Given the description of an element on the screen output the (x, y) to click on. 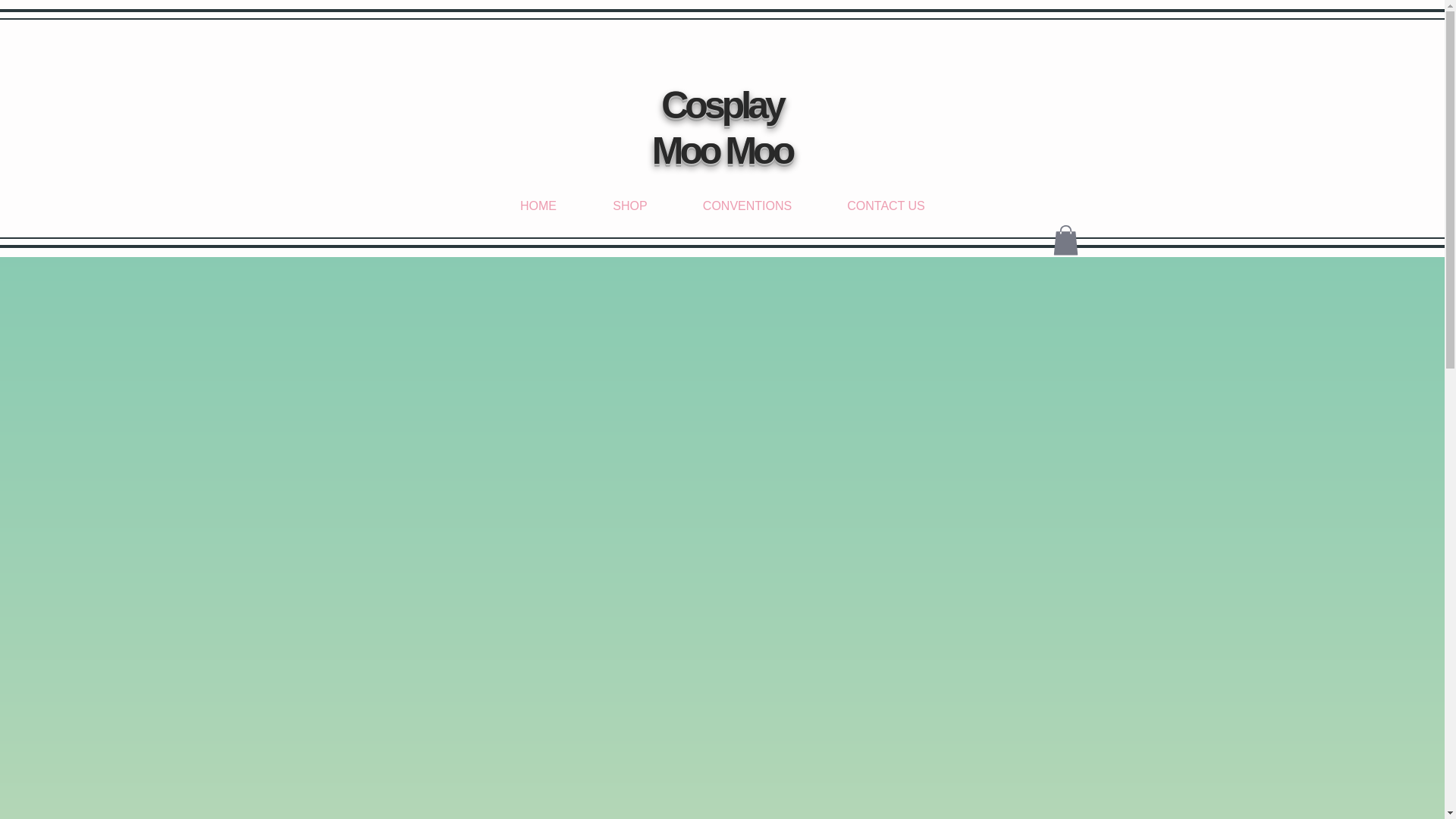
SHOP (630, 206)
CONTACT US (885, 206)
CONVENTIONS (746, 206)
HOME (538, 206)
